Given the description of an element on the screen output the (x, y) to click on. 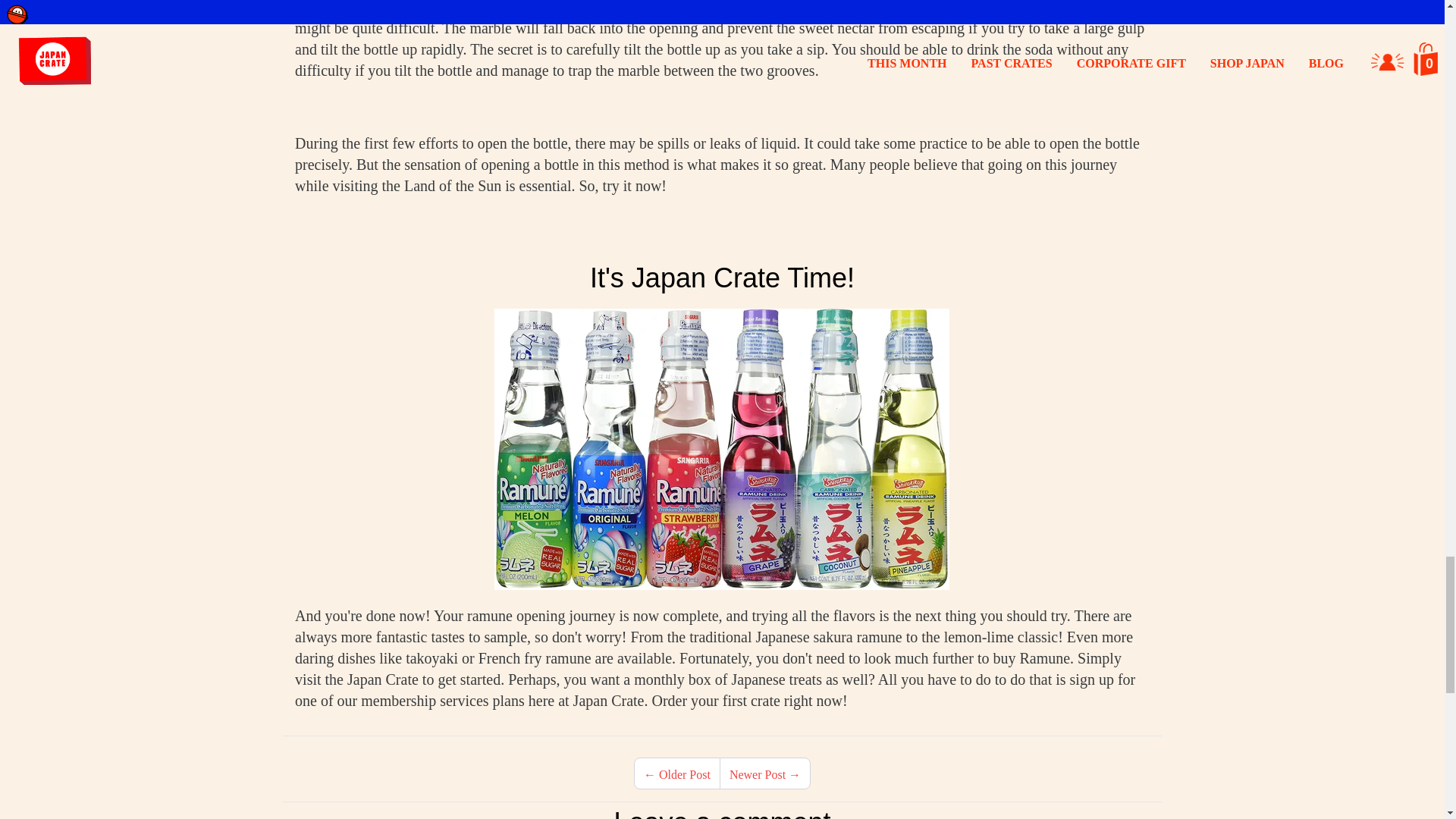
Newer Post (757, 774)
Older Post (684, 774)
Japan Crate (383, 678)
